Given the description of an element on the screen output the (x, y) to click on. 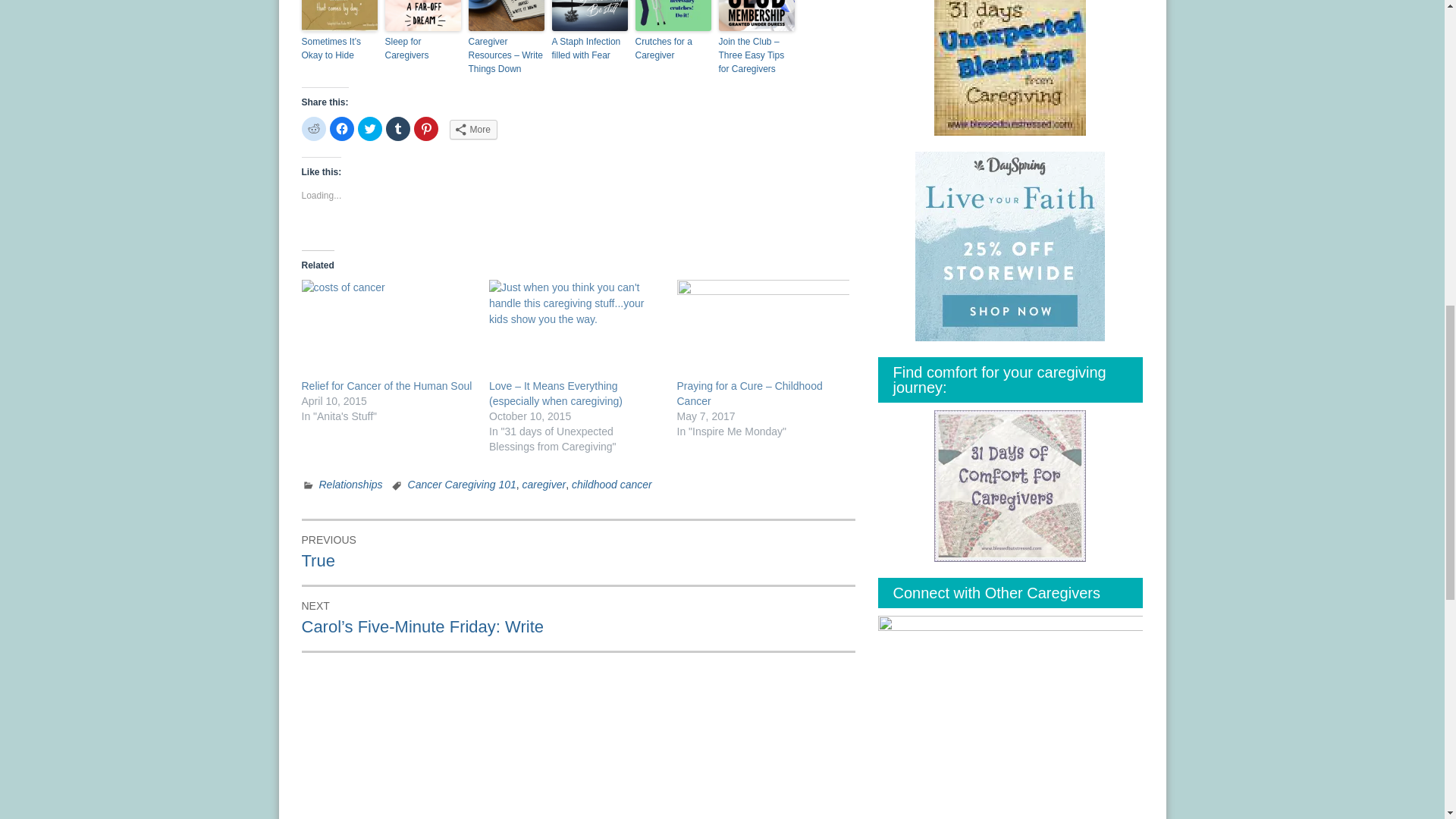
Relief for Cancer of the Human Soul (386, 386)
Click to share on Facebook (341, 128)
A Staph Infection filled with Fear (589, 48)
Click to share on Tumblr (397, 128)
Crutches for a Caregiver (672, 48)
Click to share on Pinterest (425, 128)
Relief for Cancer of the Human Soul (387, 329)
Click to share on Twitter (369, 128)
Sleep for Caregivers (423, 48)
Click to share on Reddit (313, 128)
